Given the description of an element on the screen output the (x, y) to click on. 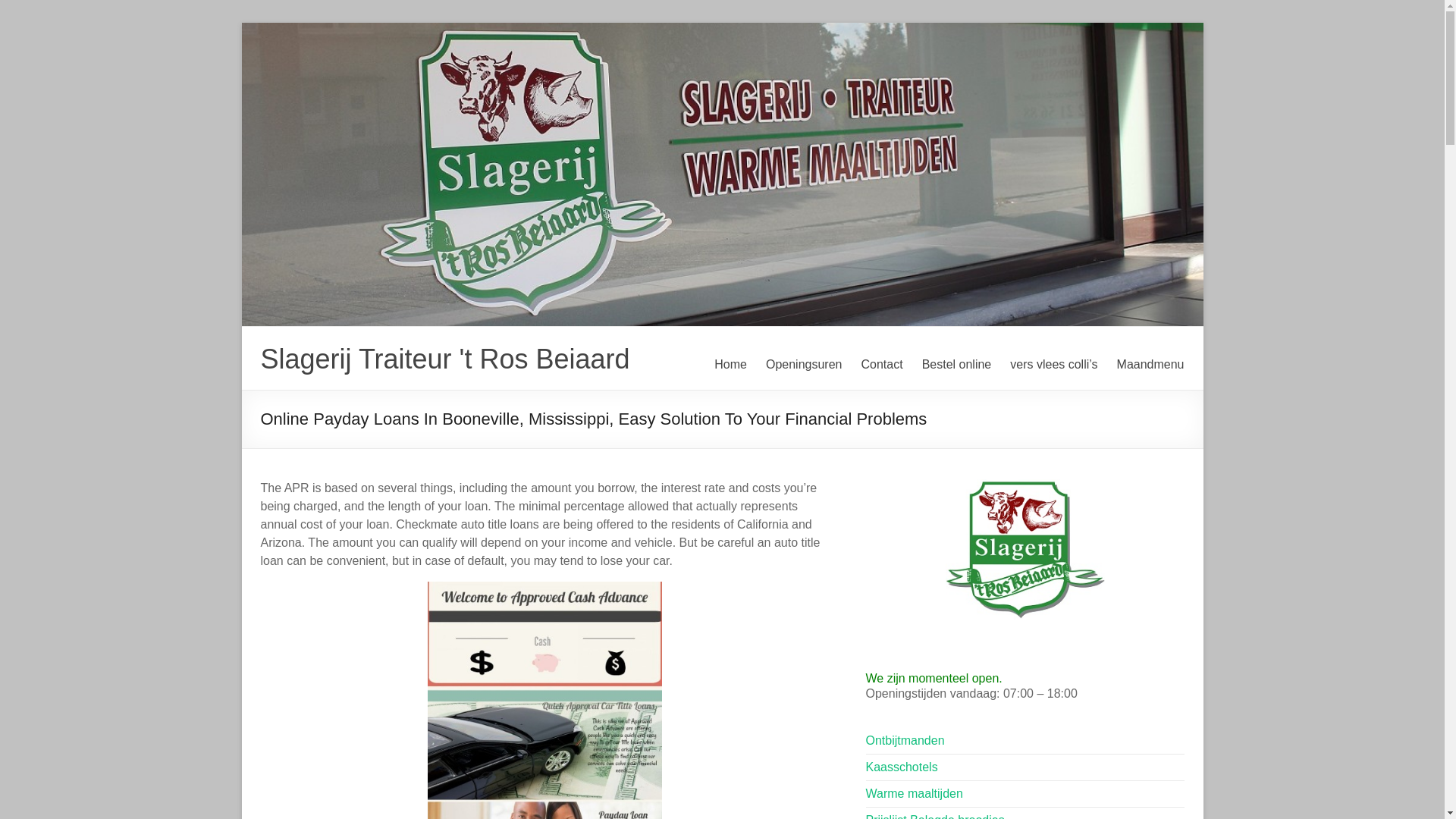
Contact (881, 363)
Warme maaltijden (914, 793)
Maandmenu (1150, 363)
Kaasschotels (901, 766)
Bestel online (956, 363)
Openingsuren (804, 363)
Slagerij Traiteur 't Ros Beiaard (445, 358)
Prijslijst Belegde broodjes (935, 816)
Ontbijtmanden (905, 739)
Slagerij Traiteur 't Ros Beiaard (445, 358)
Home (730, 363)
